Given the description of an element on the screen output the (x, y) to click on. 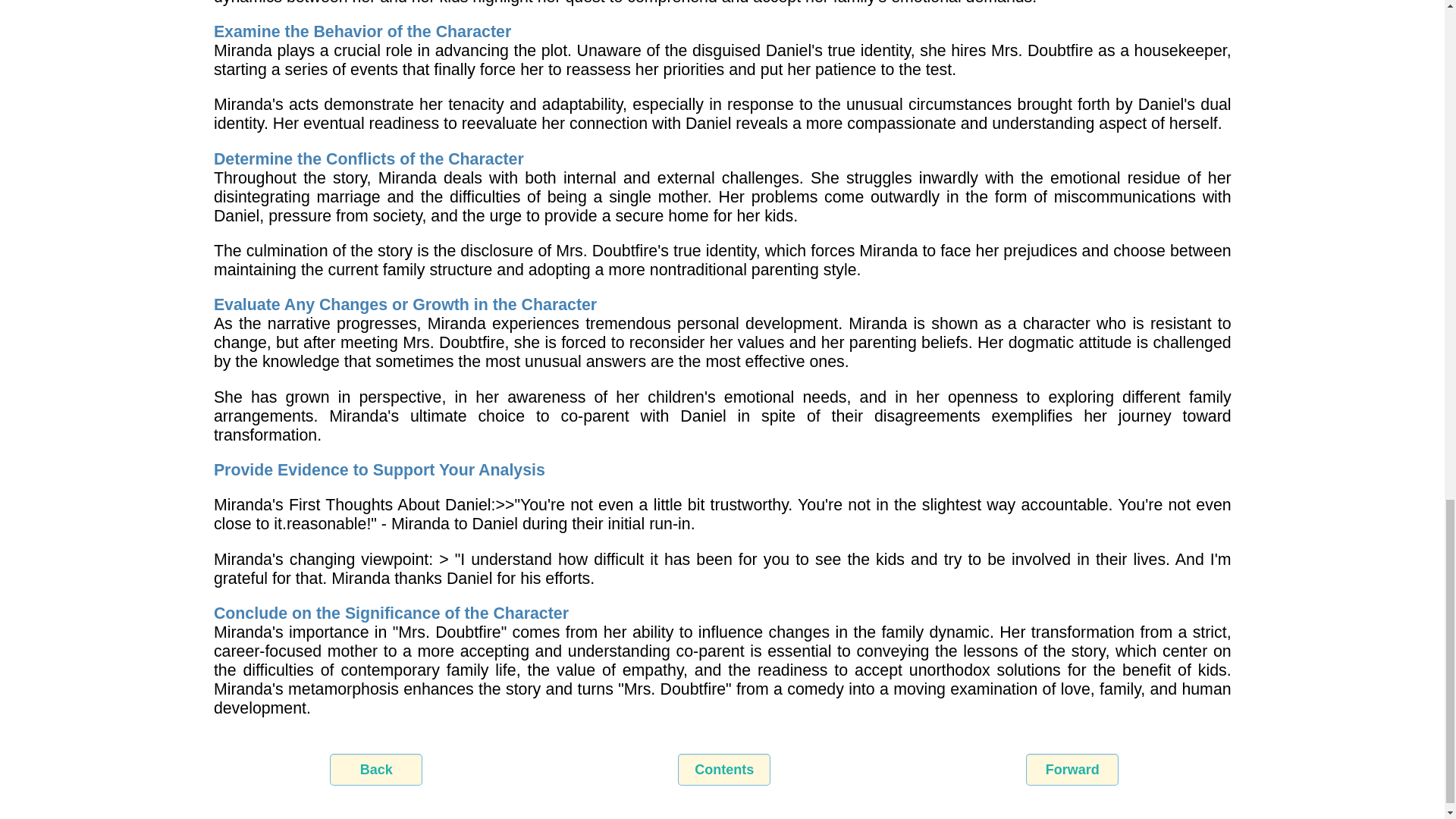
Contents (724, 769)
Forward (1072, 769)
Back (376, 769)
